Given the description of an element on the screen output the (x, y) to click on. 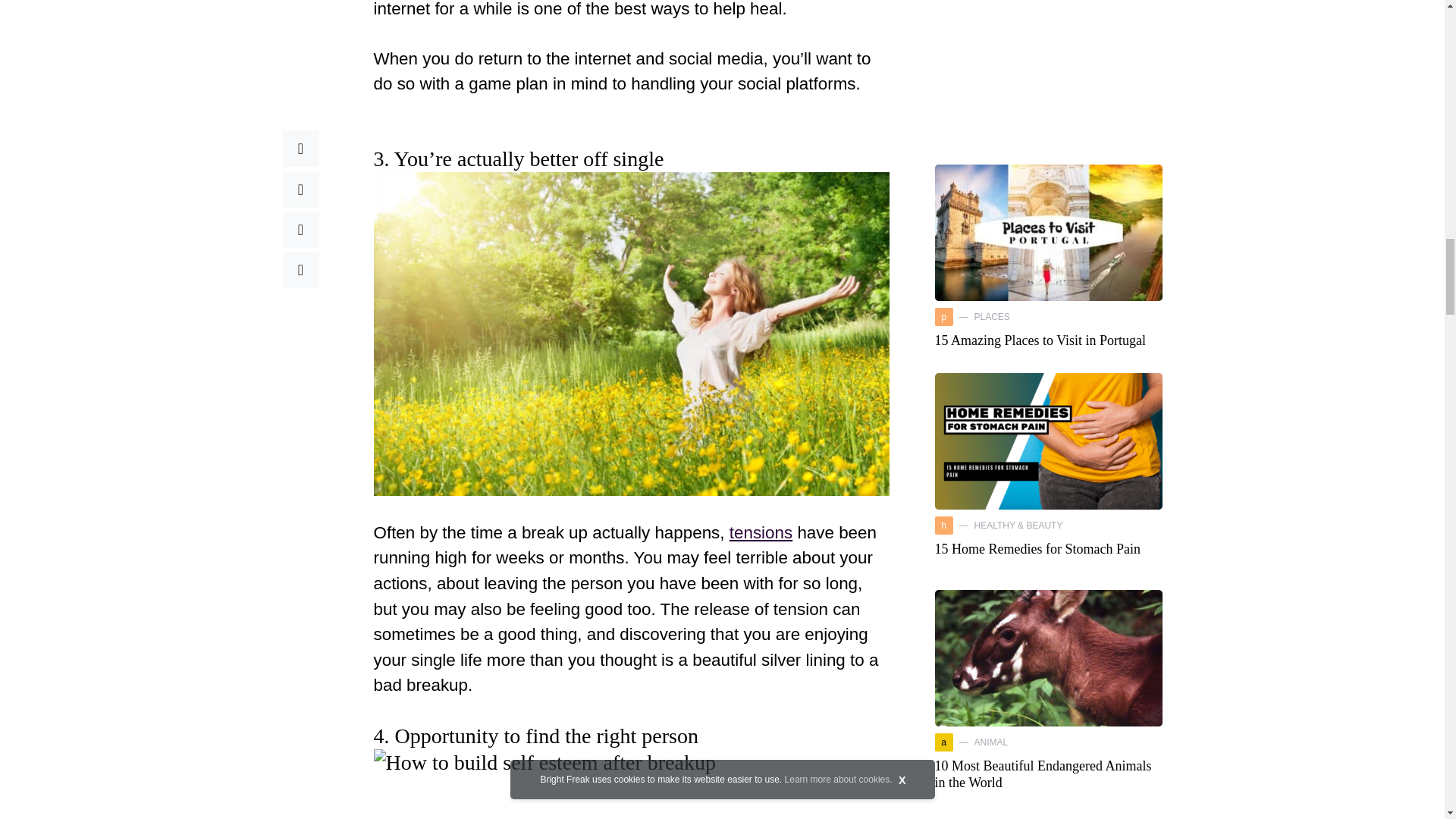
tensions (760, 532)
